Given the description of an element on the screen output the (x, y) to click on. 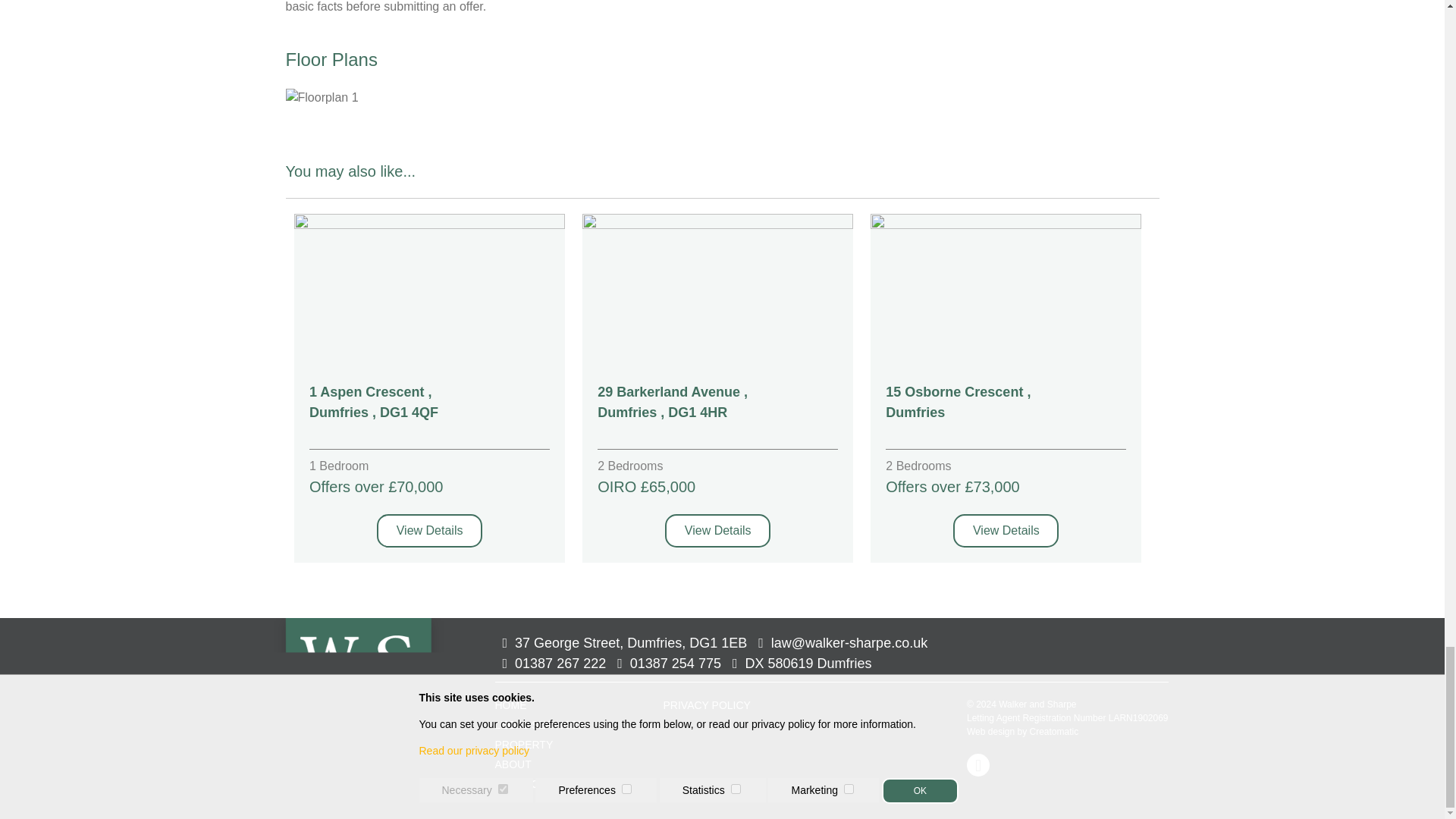
Creatomatic (1053, 731)
Walker and Sharpe (357, 675)
Floorplan 1 (321, 97)
